Given the description of an element on the screen output the (x, y) to click on. 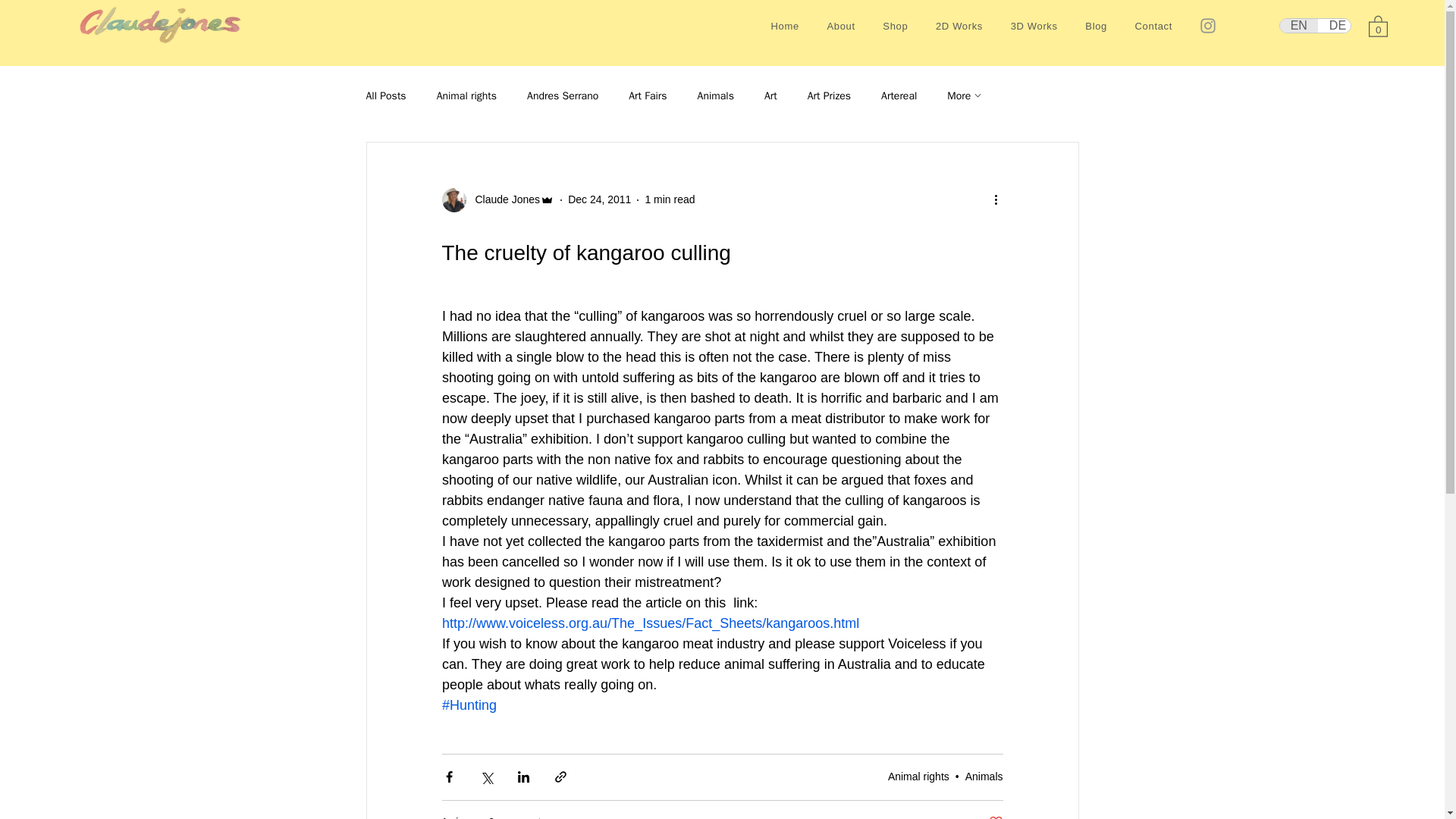
Animals (715, 96)
Claude Jones (497, 200)
Artereal (898, 96)
Art Prizes (829, 96)
EN (1298, 25)
Blog (1096, 26)
DE (1336, 25)
Andres Serrano (562, 96)
Claude Jones (502, 199)
All Posts (385, 96)
Dec 24, 2011 (598, 199)
Animal rights (466, 96)
Shop (895, 26)
Art (770, 96)
Contact (1153, 26)
